Given the description of an element on the screen output the (x, y) to click on. 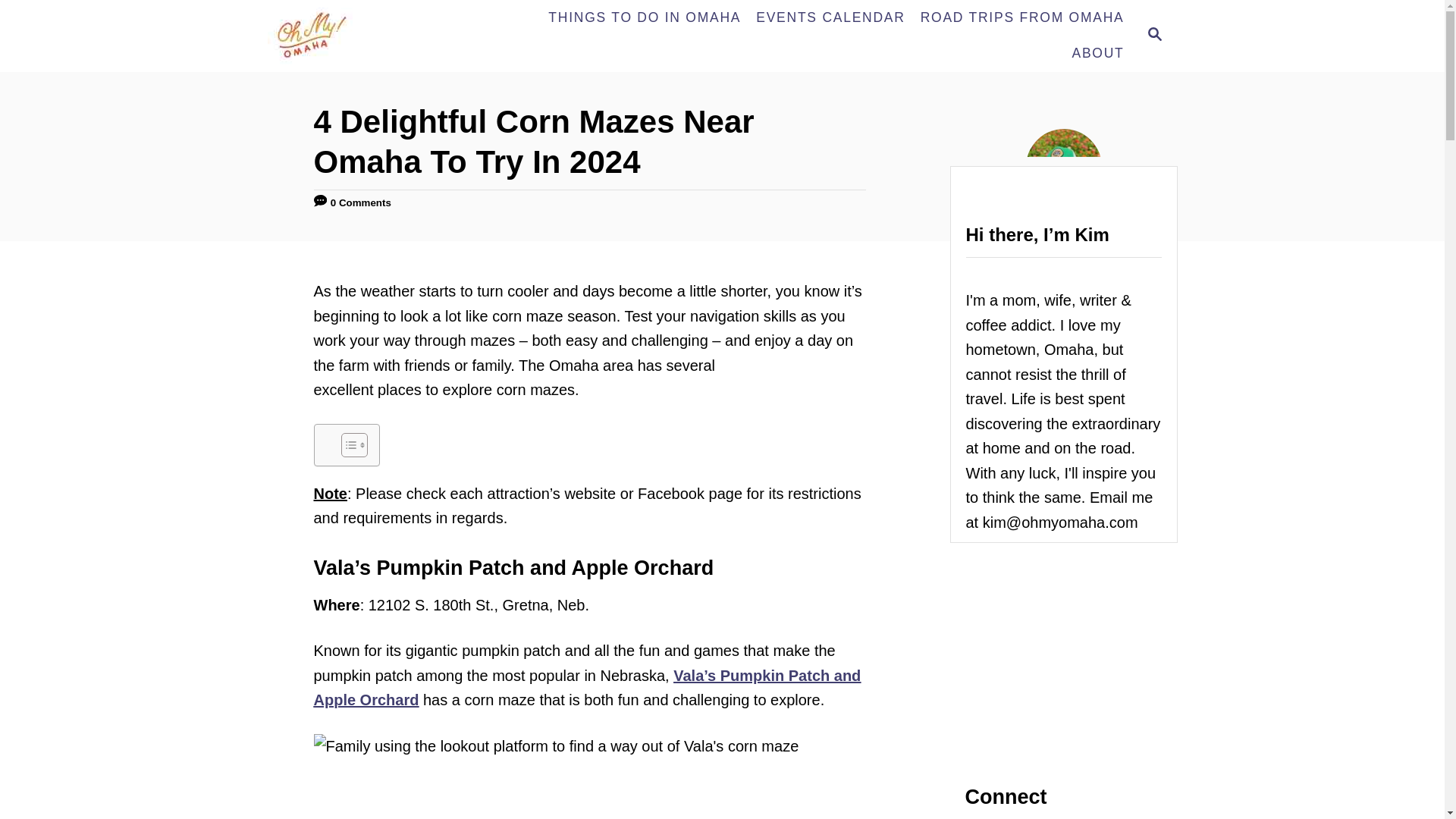
EVENTS CALENDAR (830, 18)
THINGS TO DO IN OMAHA (644, 18)
ROAD TRIPS FROM OMAHA (1022, 18)
Oh My! Omaha (377, 36)
SEARCH (1153, 35)
ABOUT (1097, 53)
